Given the description of an element on the screen output the (x, y) to click on. 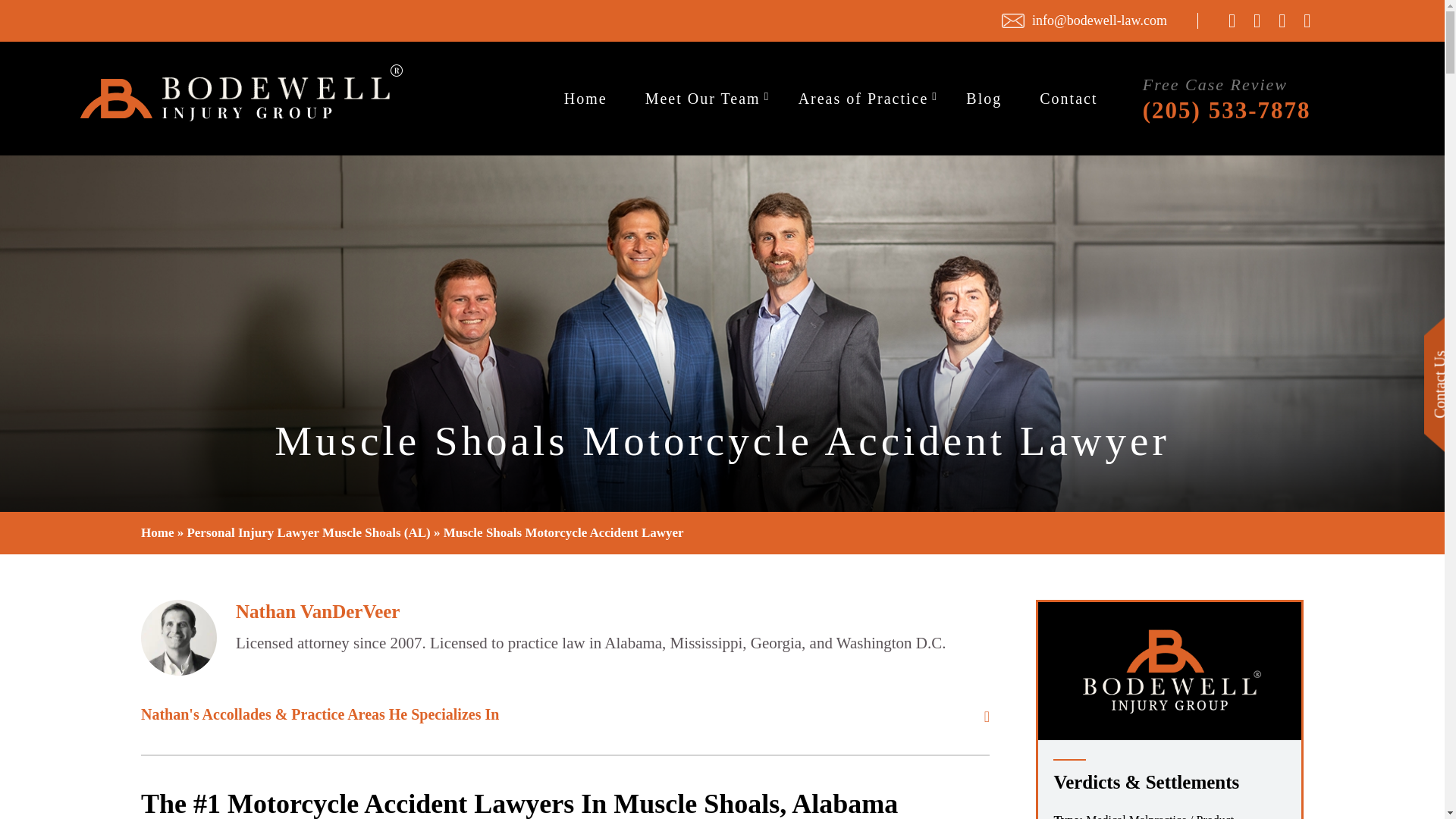
Areas of Practice (863, 98)
Meet Our Team (702, 98)
